Given the description of an element on the screen output the (x, y) to click on. 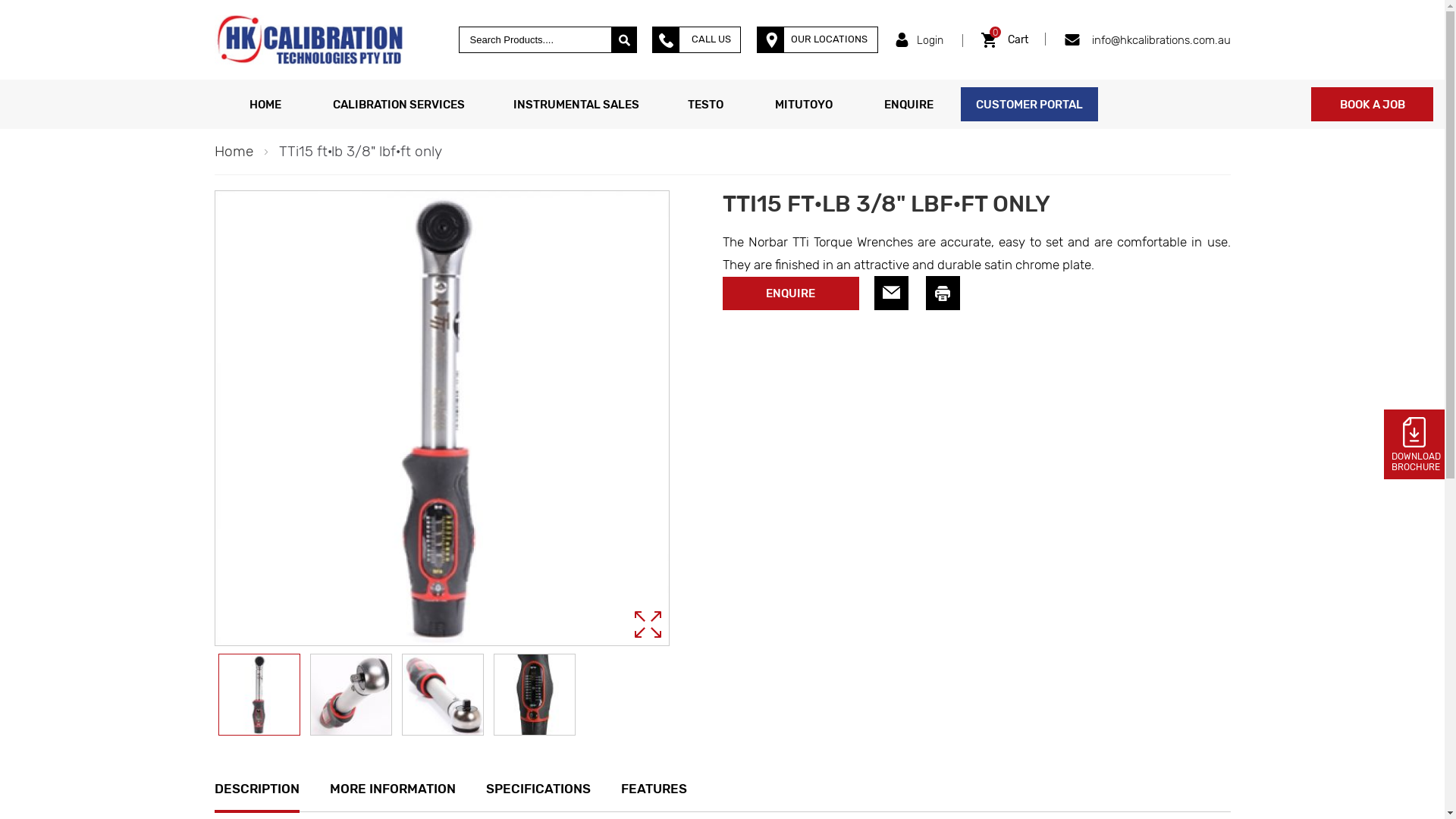
ENQUIRE Element type: text (789, 293)
TESTO Element type: text (704, 104)
FEATURES Element type: text (653, 788)
Home Element type: text (232, 151)
SPECIFICATIONS Element type: text (537, 788)
info@hkcalibrations.com.au Element type: text (1146, 38)
CALL US Element type: text (695, 39)
SEARCH Element type: text (624, 39)
MITUTOYO Element type: text (803, 104)
DESCRIPTION Element type: text (255, 788)
MORE INFORMATION Element type: text (392, 788)
Login Element type: text (918, 41)
CALIBRATION SERVICES Element type: text (397, 104)
ENQUIRE Element type: text (908, 104)
CUSTOMER PORTAL Element type: text (1028, 104)
Cart
0 Element type: text (1004, 39)
INSTRUMENTAL SALES Element type: text (575, 104)
HK Calibration Element type: hover (307, 39)
HOME Element type: text (264, 104)
OUR LOCATIONS Element type: text (816, 39)
DOWNLOAD BROCHURE Element type: text (1413, 444)
BOOK A JOB Element type: text (1372, 104)
Print this Page Element type: hover (942, 293)
